Given the description of an element on the screen output the (x, y) to click on. 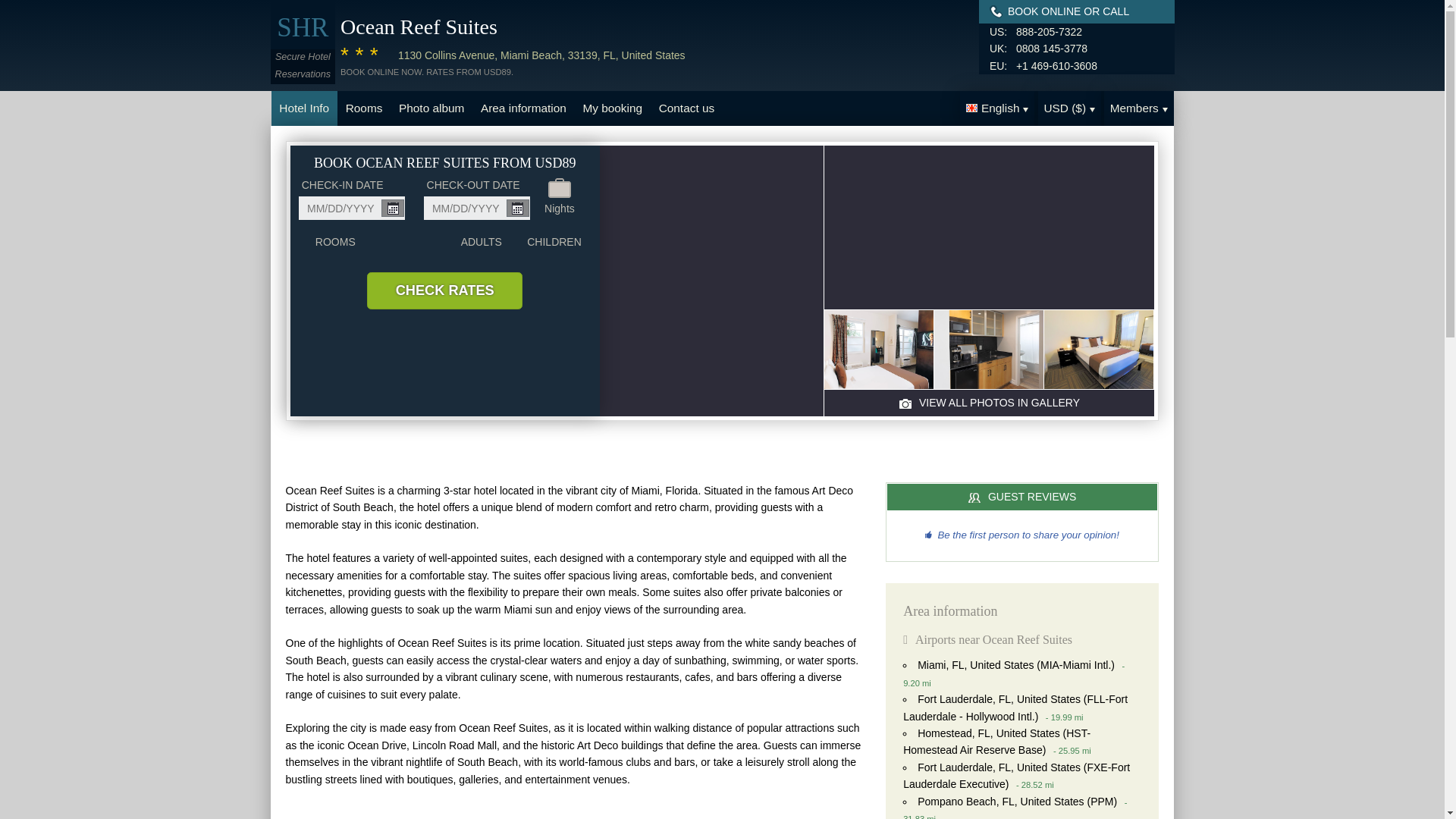
Hotel Info (303, 107)
Contact us (686, 107)
Area information (522, 107)
My booking (612, 107)
Rooms (363, 107)
